Given the description of an element on the screen output the (x, y) to click on. 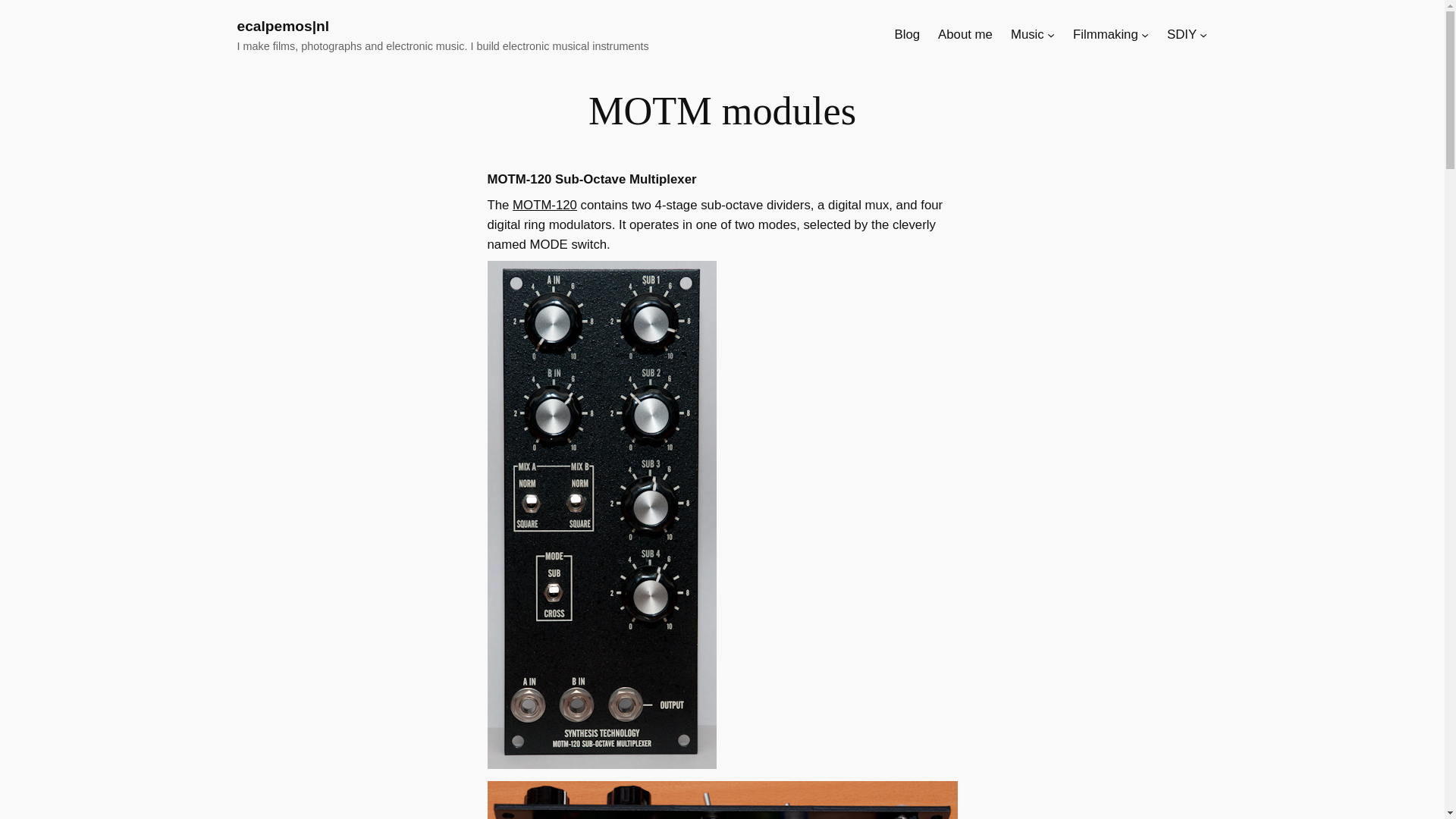
About me (964, 35)
Filmmaking (1105, 35)
SDIY (1181, 35)
Blog (906, 35)
Music (1026, 35)
